Given the description of an element on the screen output the (x, y) to click on. 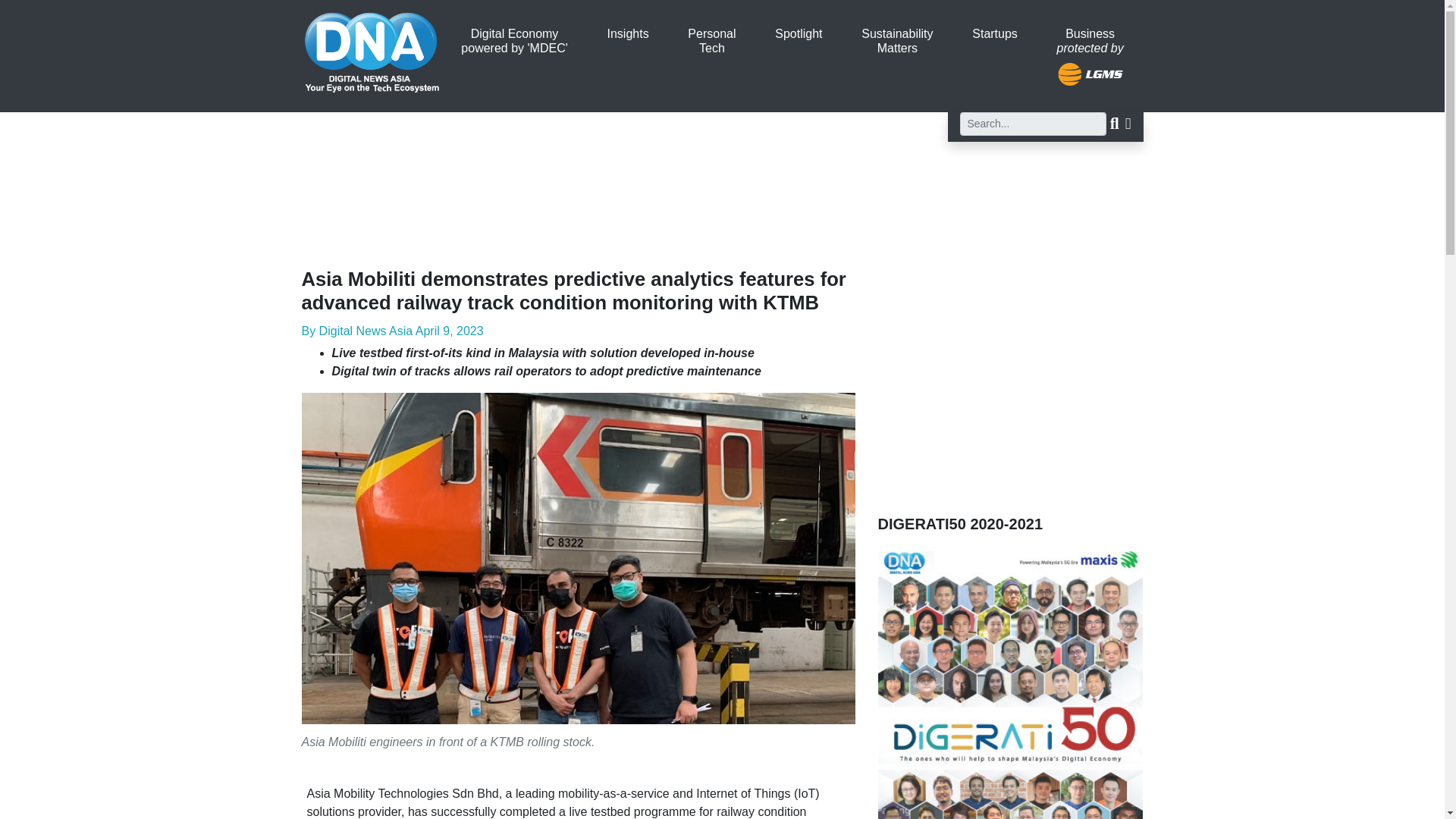
Insights (711, 40)
Home (628, 33)
Skip to main content (371, 44)
